Given the description of an element on the screen output the (x, y) to click on. 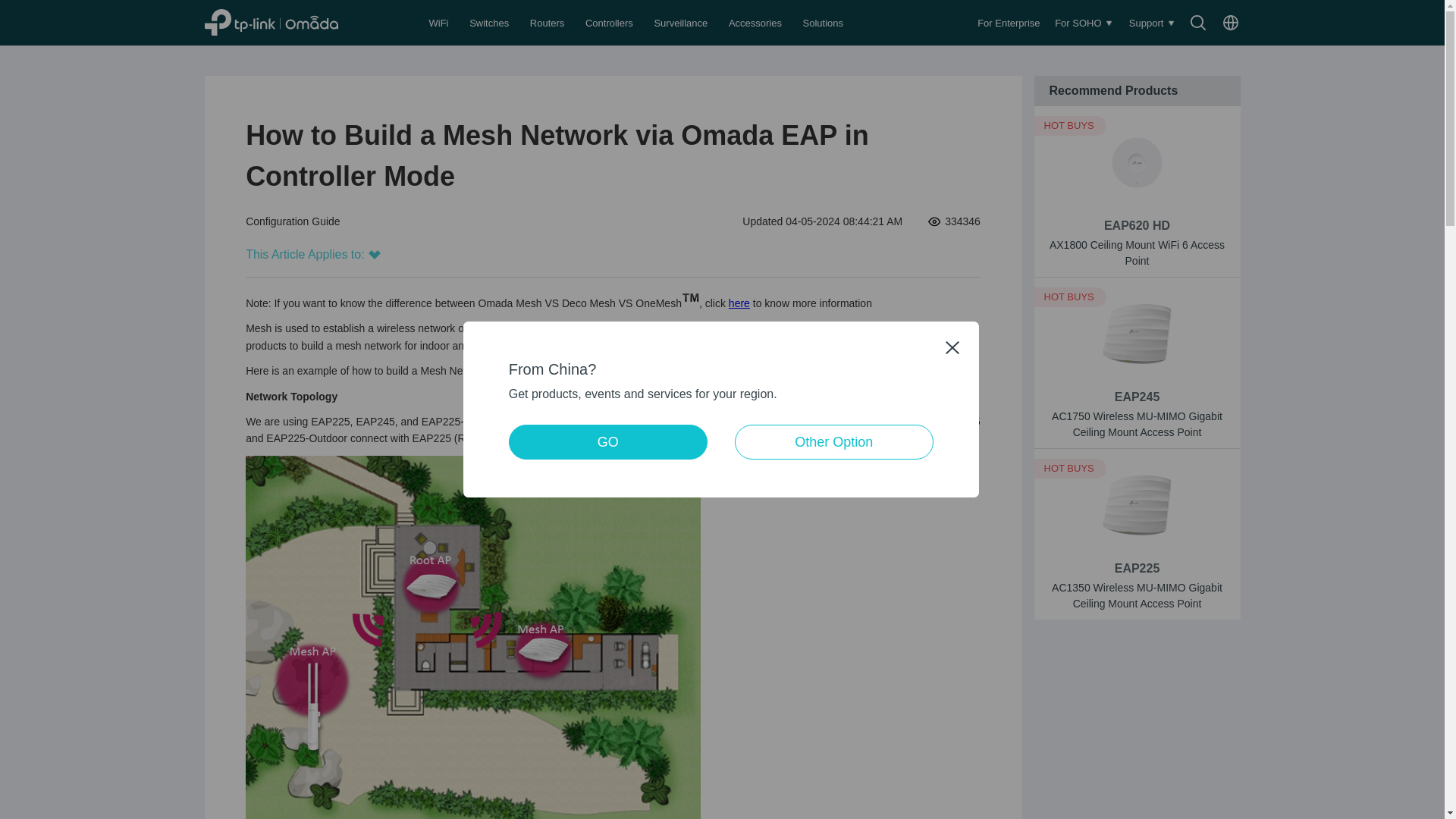
TP-Link, Reliably Smart (288, 22)
Controllers (609, 22)
Accessories (756, 22)
Choose location (1230, 22)
Surveillance (681, 22)
Search icon (1198, 22)
Switches (490, 22)
Solutions (824, 22)
